Given the description of an element on the screen output the (x, y) to click on. 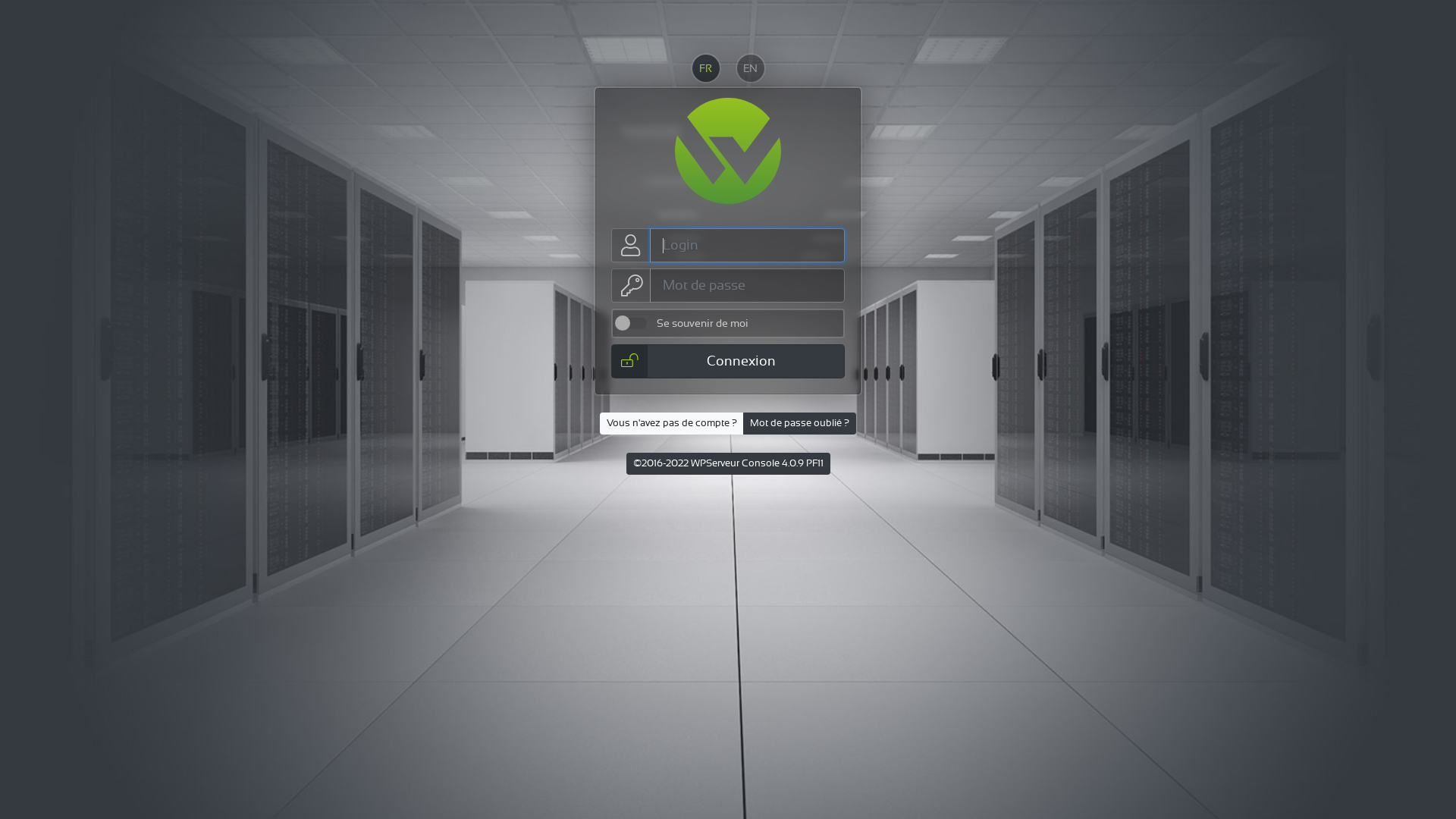
Connexion Element type: text (727, 361)
FR Element type: text (704, 67)
EN Element type: text (750, 67)
Vous n'avez pas de compte ? Element type: text (671, 423)
